Given the description of an element on the screen output the (x, y) to click on. 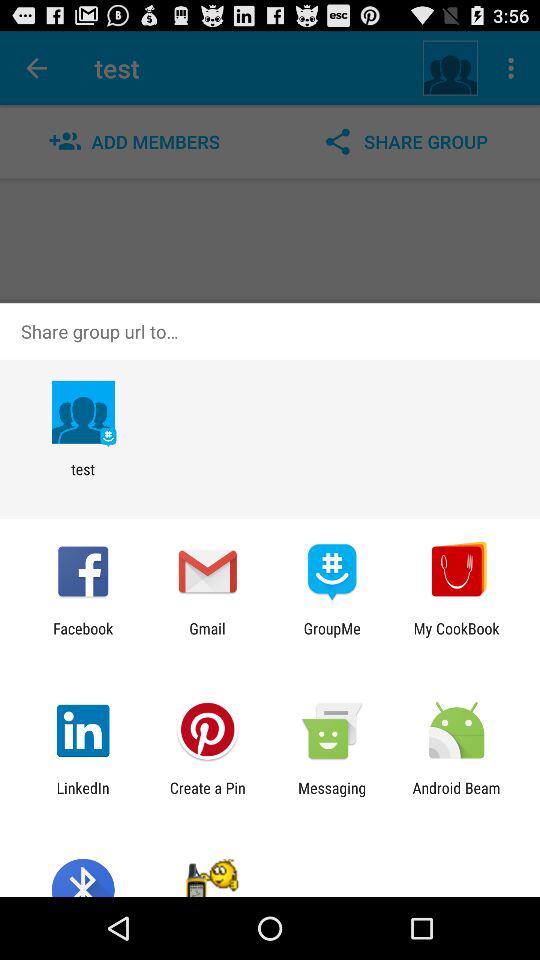
launch icon next to the messaging (456, 796)
